Given the description of an element on the screen output the (x, y) to click on. 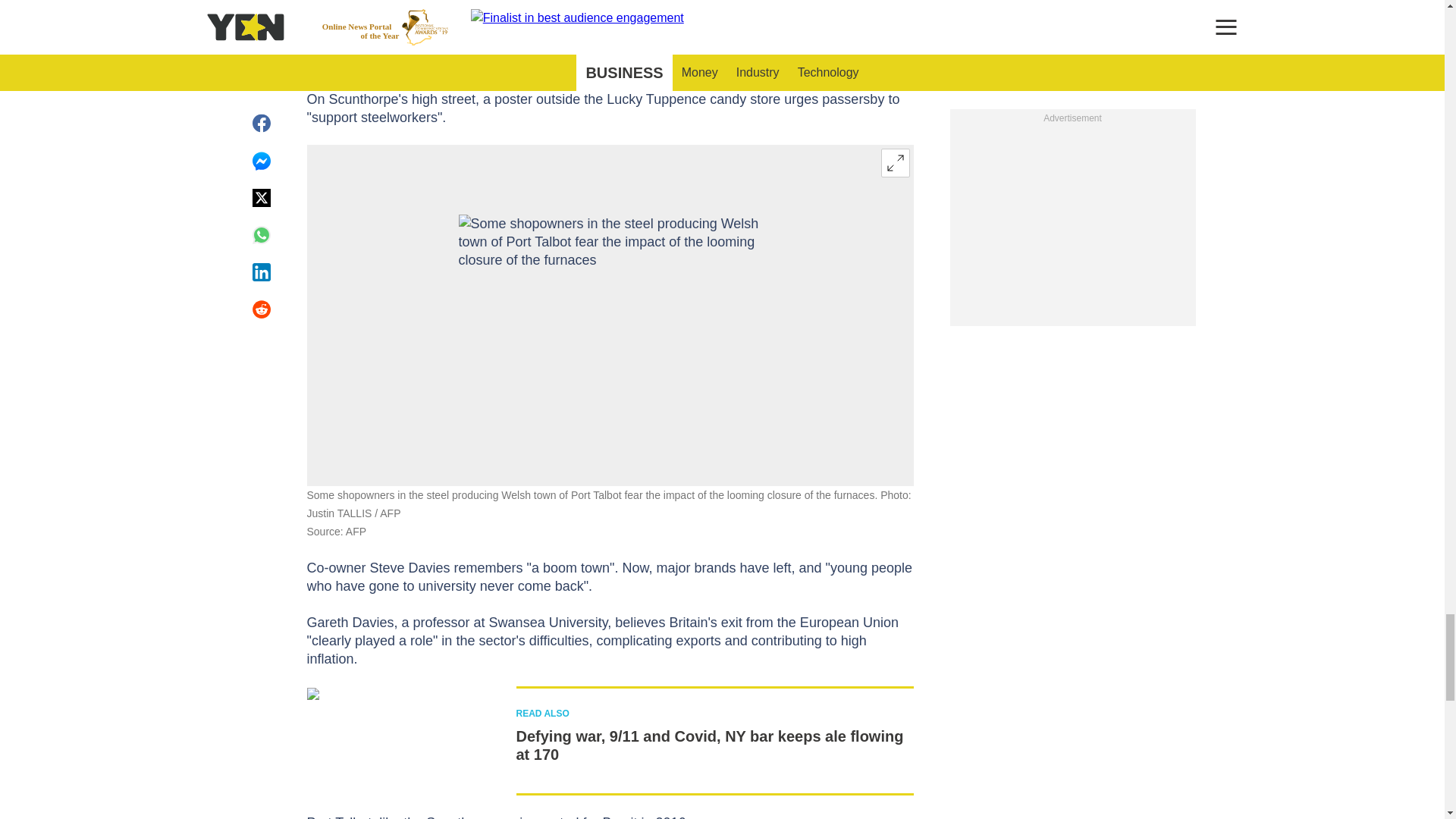
Expand image (895, 162)
